Given the description of an element on the screen output the (x, y) to click on. 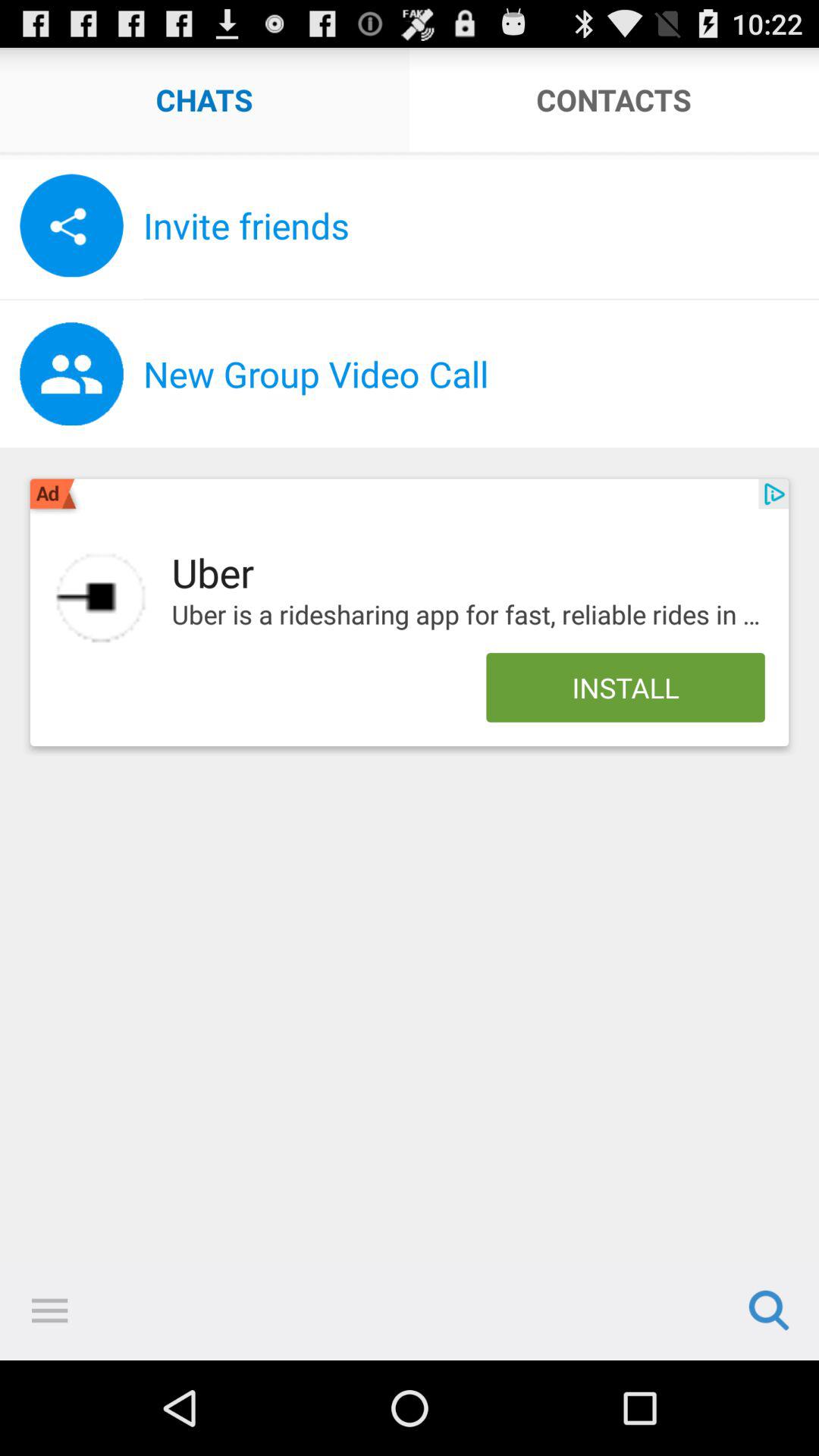
show advertisement from uber (100, 597)
